Given the description of an element on the screen output the (x, y) to click on. 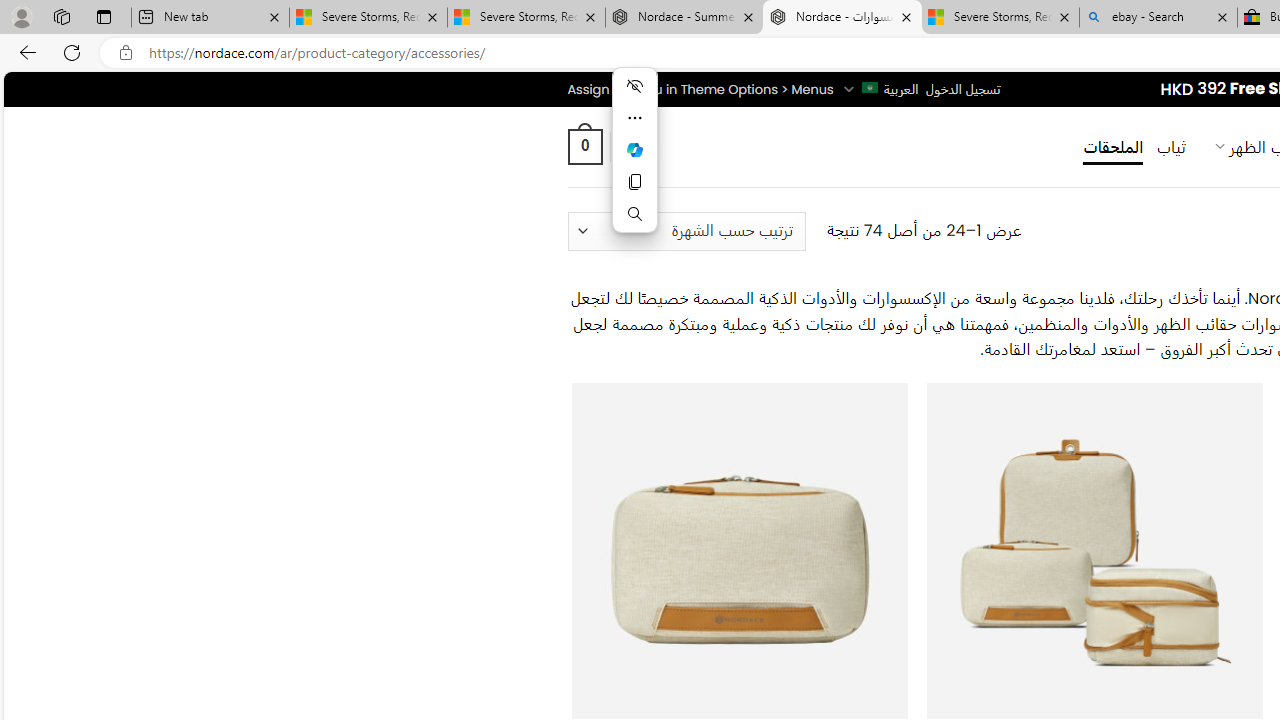
Personal Profile (21, 16)
View site information (125, 53)
  0   (584, 146)
Tab actions menu (104, 16)
Mini menu on text selection (634, 161)
Mini menu on text selection (634, 149)
ebay - Search (1158, 17)
Workspaces (61, 16)
